Given the description of an element on the screen output the (x, y) to click on. 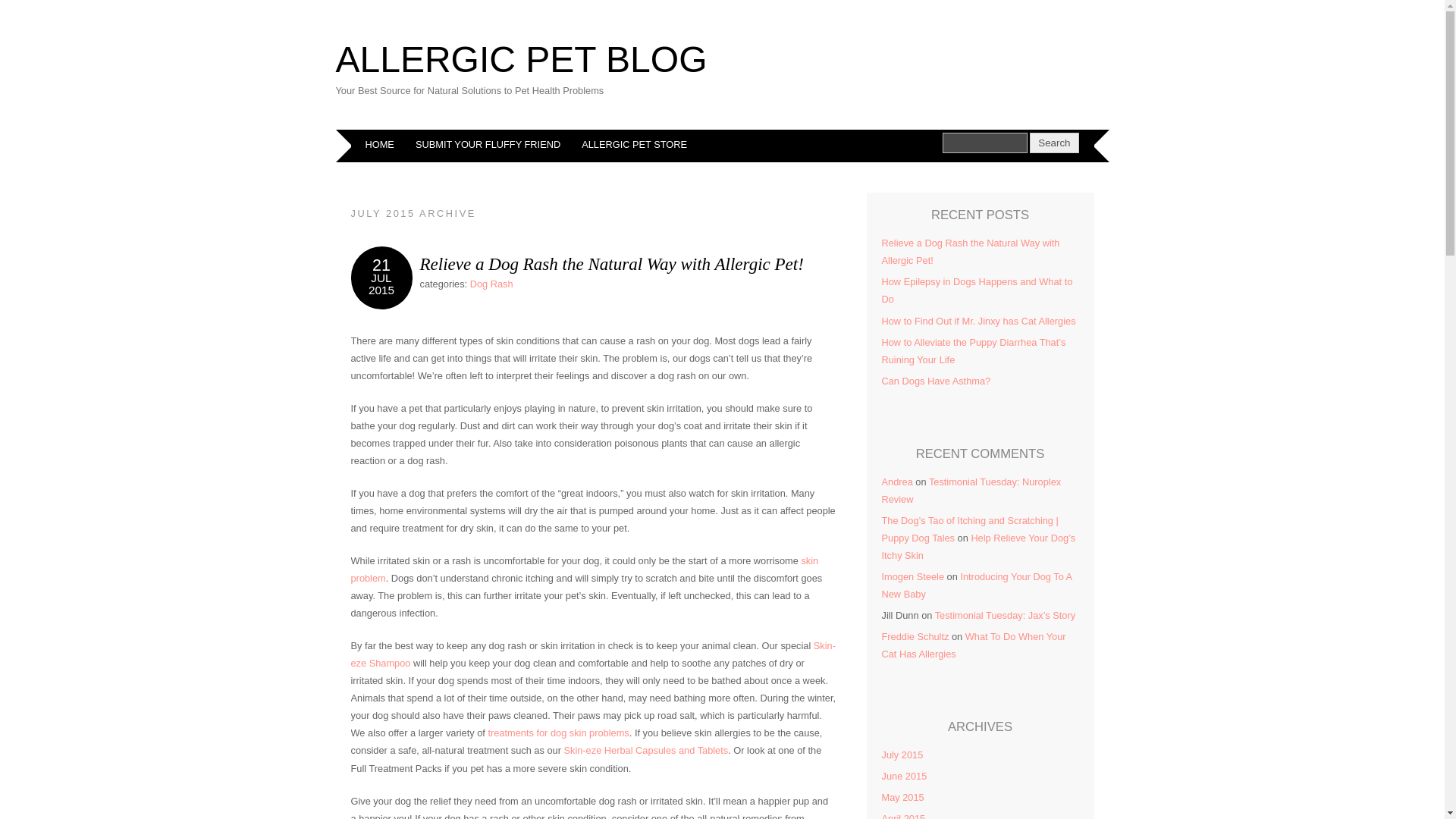
Can Dogs Have Asthma? (935, 380)
How to Find Out if Mr. Jinxy has Cat Allergies (977, 320)
Andrea (896, 481)
treatments for dog skin problems (557, 732)
Search (1053, 142)
skin problem (584, 569)
SUBMIT YOUR FLUFFY FRIEND (487, 144)
21 (381, 265)
Search (984, 142)
ALLERGIC PET BLOG (520, 59)
Dog Rash (491, 283)
Skin-eze Herbal Capsules and Tablets (645, 749)
How Epilepsy in Dogs Happens and What to Do (975, 290)
Skin-eze Shampoo (592, 654)
Relieve a Dog Rash the Natural Way with Allergic Pet! (611, 263)
